Given the description of an element on the screen output the (x, y) to click on. 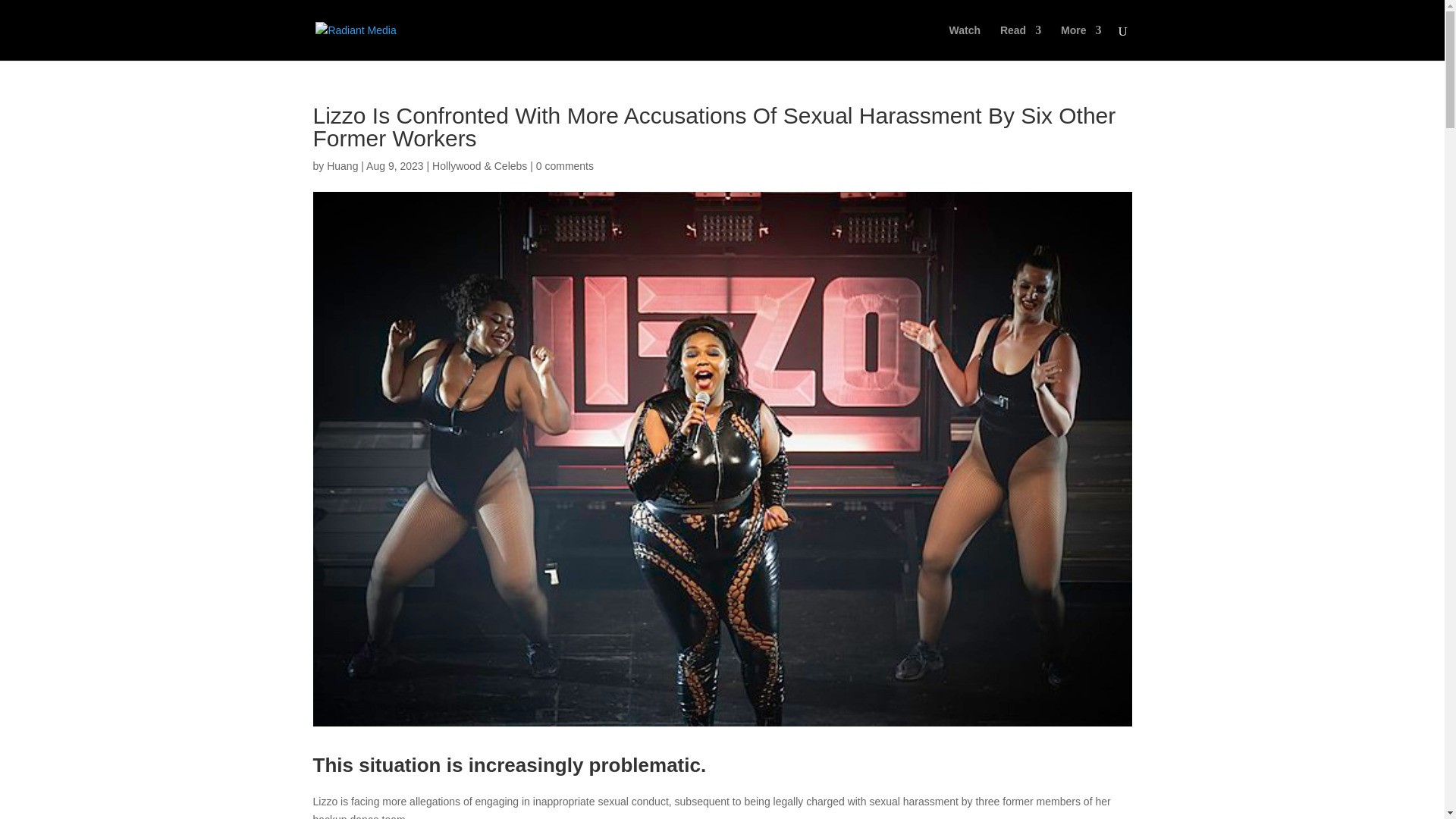
Read (1020, 42)
More (1080, 42)
Posts by Huang (342, 165)
0 comments (564, 165)
Huang (342, 165)
